Given the description of an element on the screen output the (x, y) to click on. 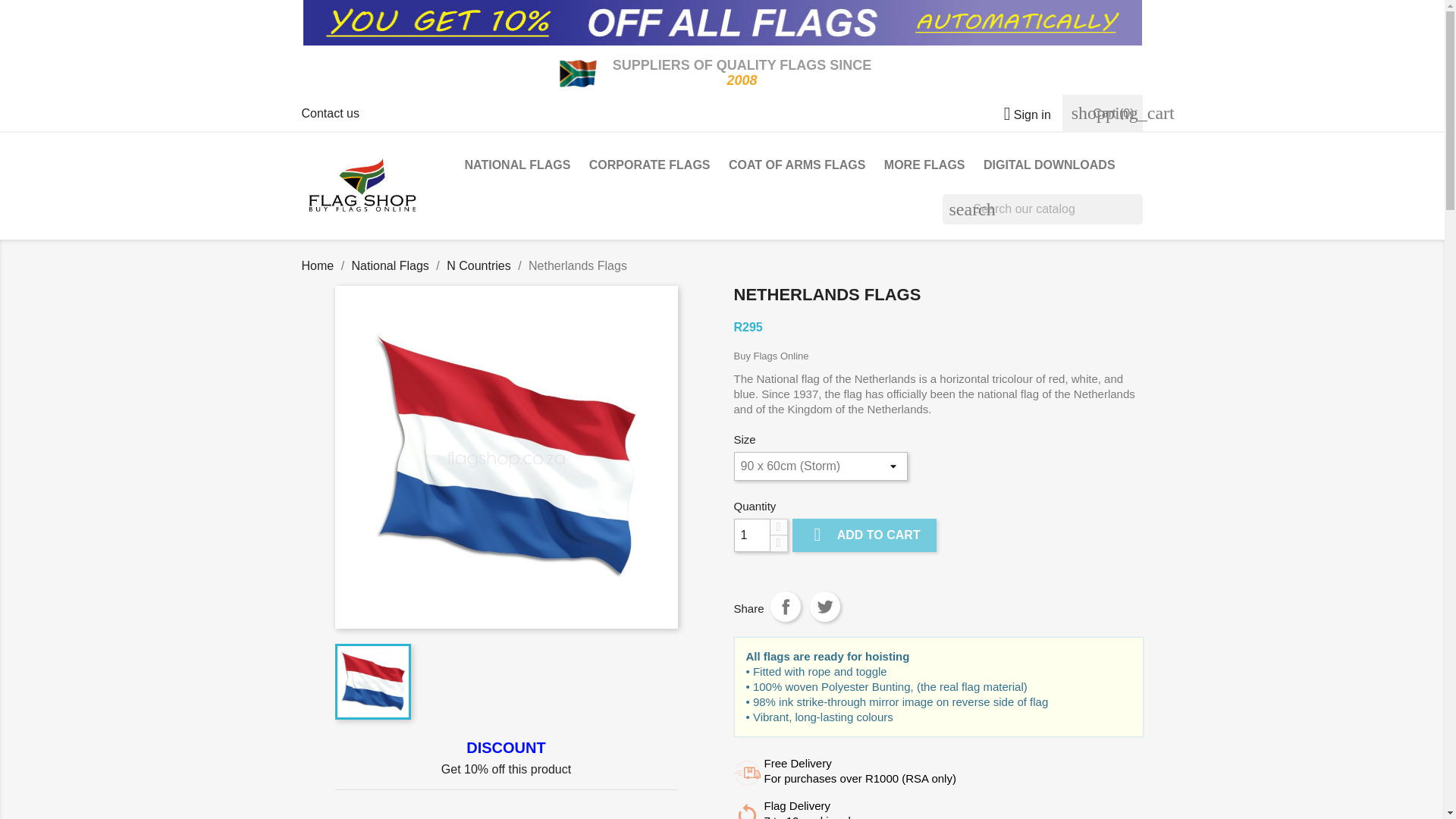
CORPORATE FLAGS (648, 166)
1 (751, 535)
Tweet (824, 606)
NATIONAL FLAGS (517, 166)
Share (785, 606)
Log in to your customer account (1020, 114)
Contact us (330, 113)
COAT OF ARMS FLAGS (796, 166)
